Given the description of an element on the screen output the (x, y) to click on. 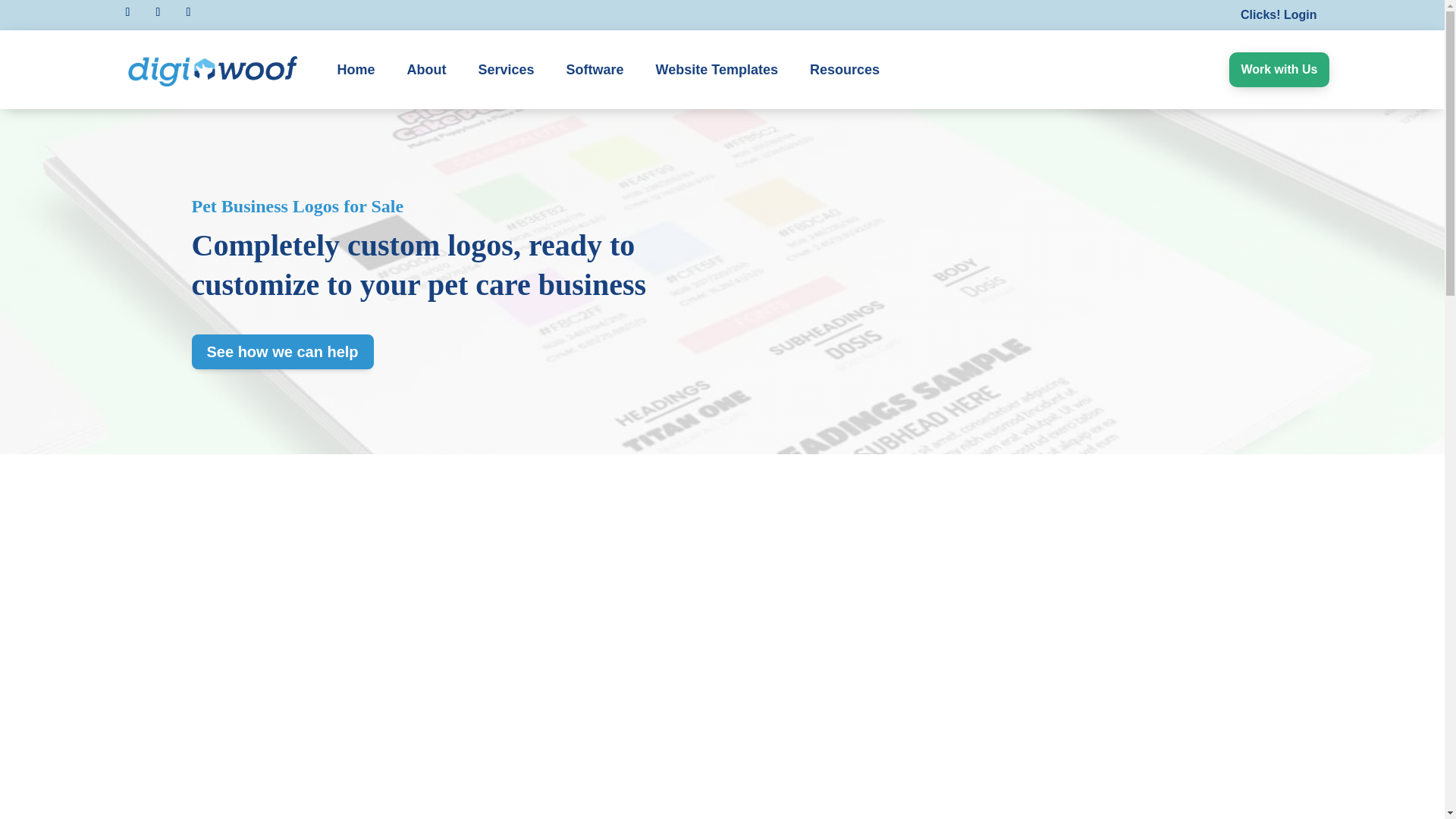
Website Templates (717, 69)
Services (506, 69)
Home (352, 69)
See how we can help (281, 351)
Follow on Instagram (127, 12)
Resources (844, 69)
About (427, 69)
Clicks! Login (1277, 15)
Follow on Spotify (188, 12)
Software (594, 69)
